Given the description of an element on the screen output the (x, y) to click on. 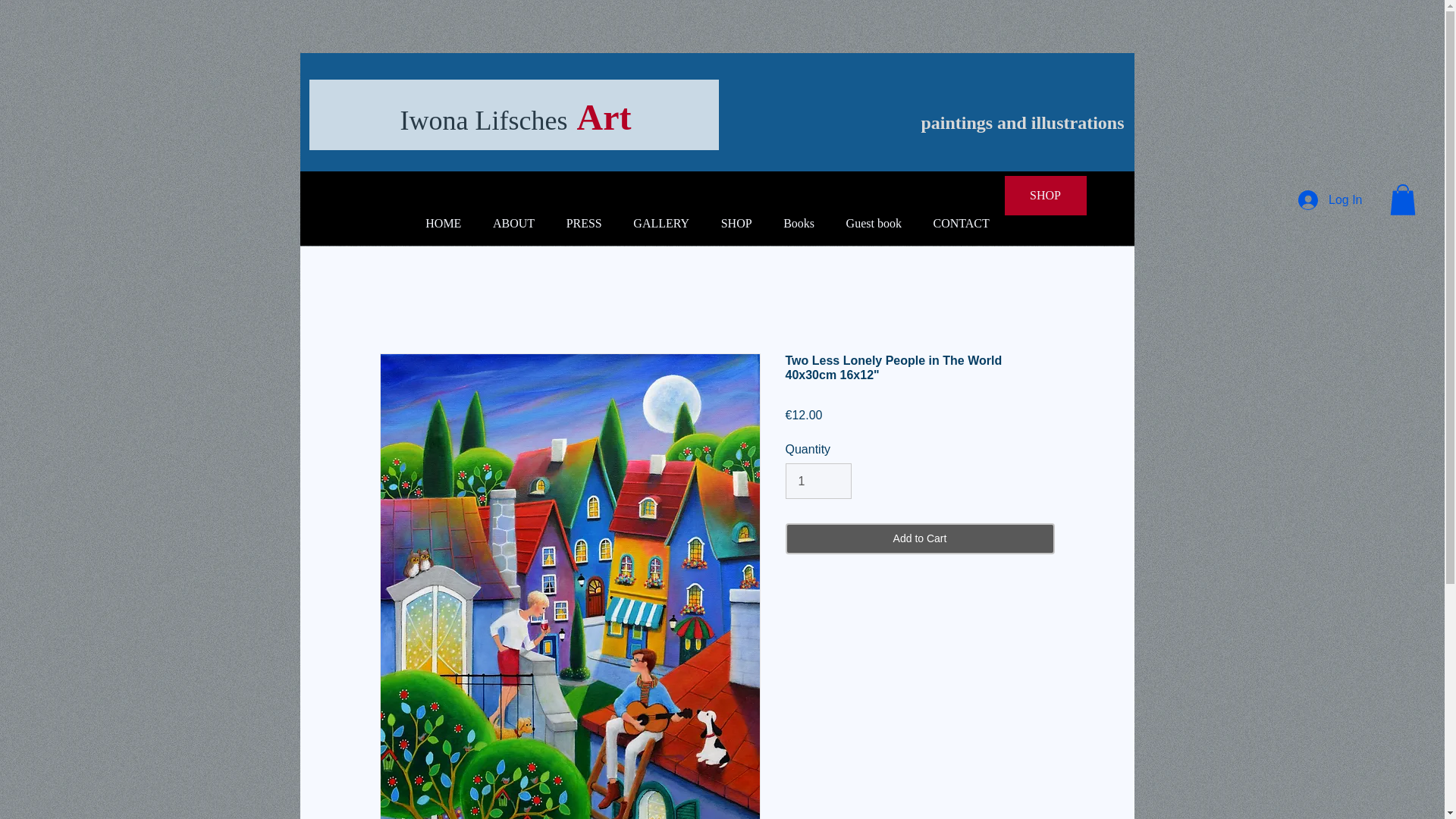
SHOP (1045, 195)
ABOUT (513, 223)
CONTACT (961, 223)
HOME (443, 223)
Log In (1330, 199)
GALLERY (660, 223)
PRESS (583, 223)
Add to Cart (920, 538)
Guest book (873, 223)
SHOP (735, 223)
